Given the description of an element on the screen output the (x, y) to click on. 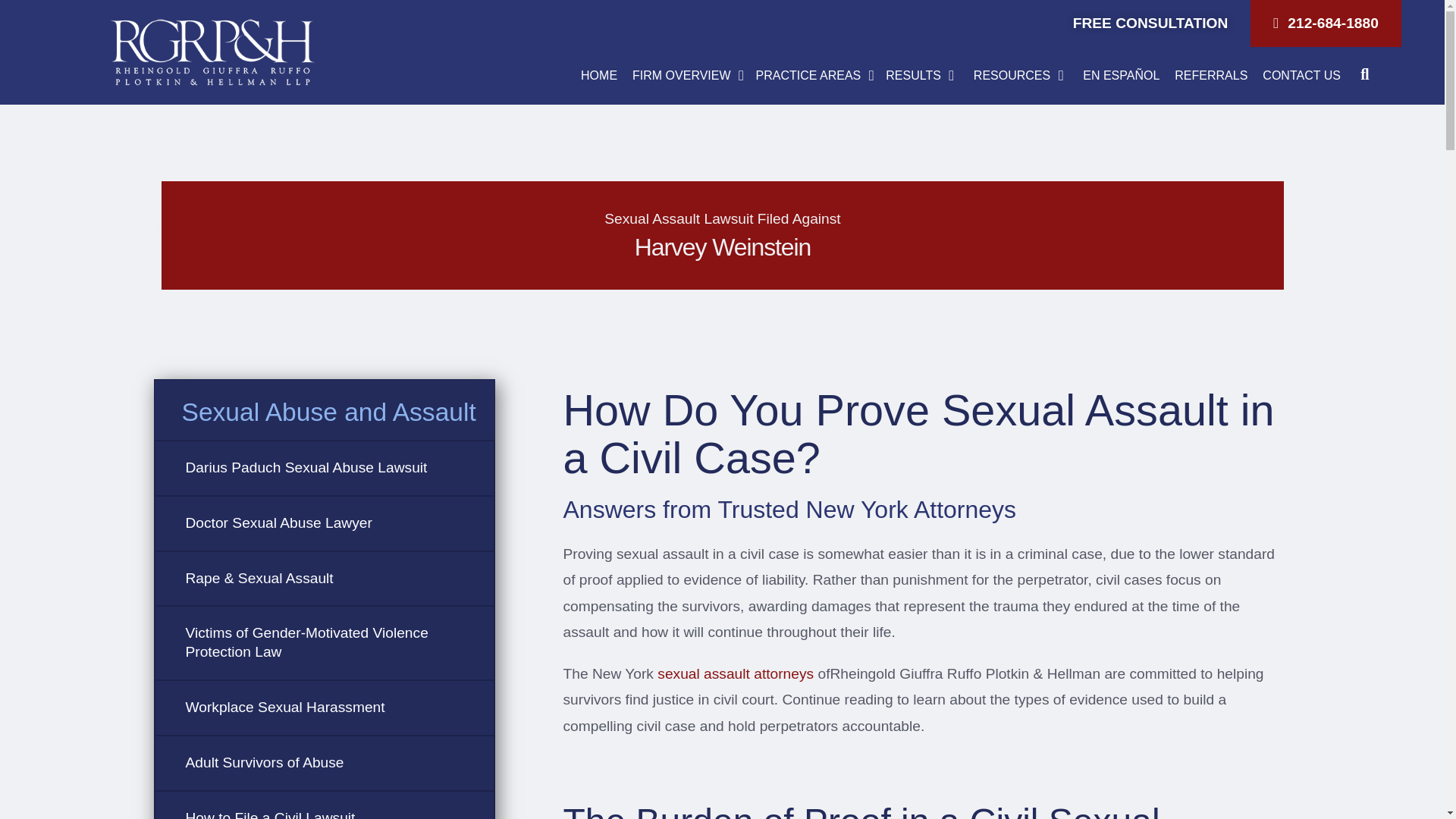
FIRM OVERVIEW (680, 76)
FREE CONSULTATION (1149, 22)
212-684-1880 (1325, 23)
HOME (598, 76)
PRACTICE AREAS (808, 76)
